Given the description of an element on the screen output the (x, y) to click on. 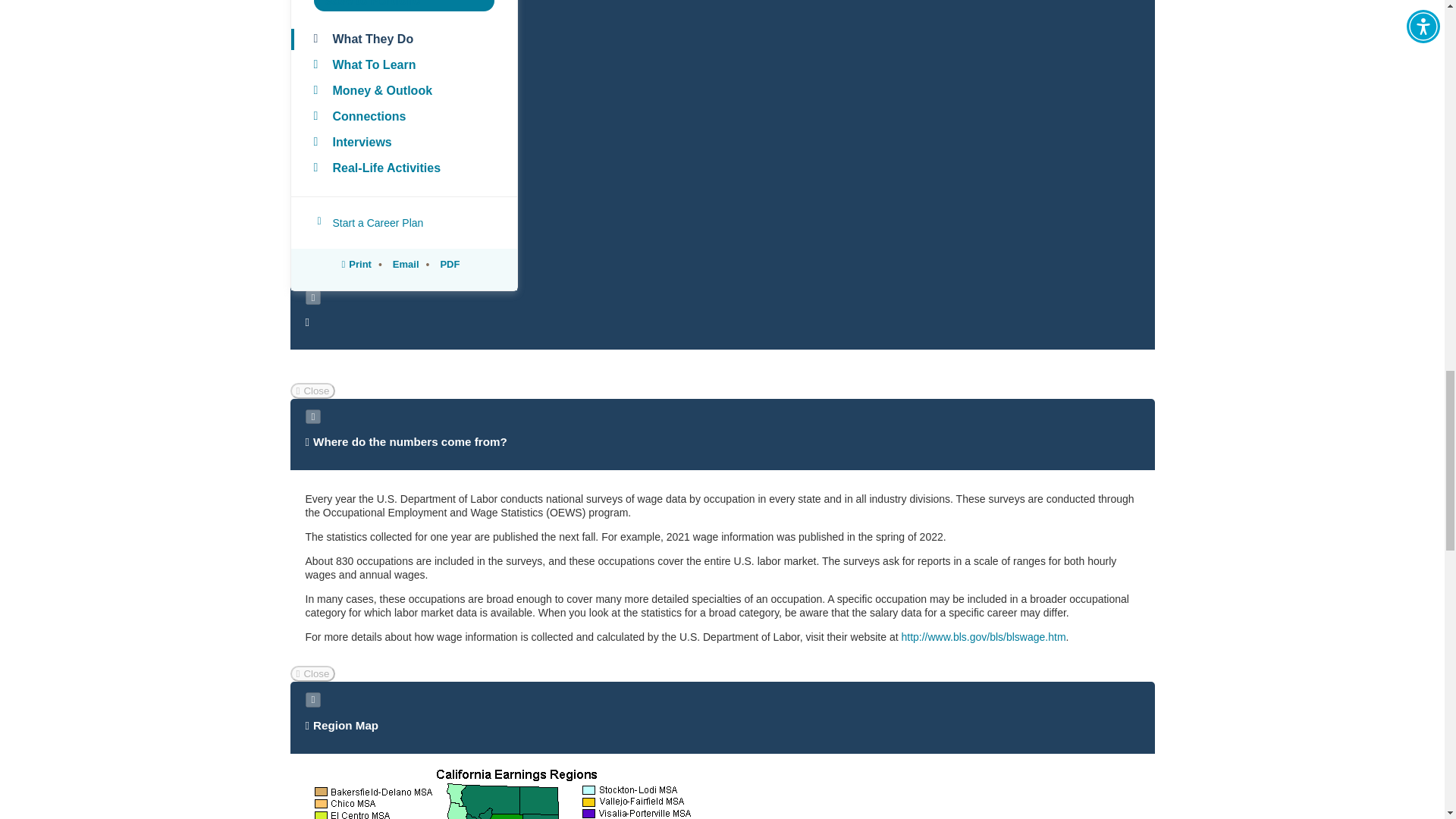
Real-Life Activities (403, 168)
Close (311, 390)
PDF (447, 264)
Print (356, 264)
Interviews (403, 142)
What They Do (403, 38)
Email (403, 264)
Save to Portfolio (404, 5)
Start a Career Plan (403, 222)
What To Learn (403, 65)
Connections (403, 116)
Close (311, 673)
